Given the description of an element on the screen output the (x, y) to click on. 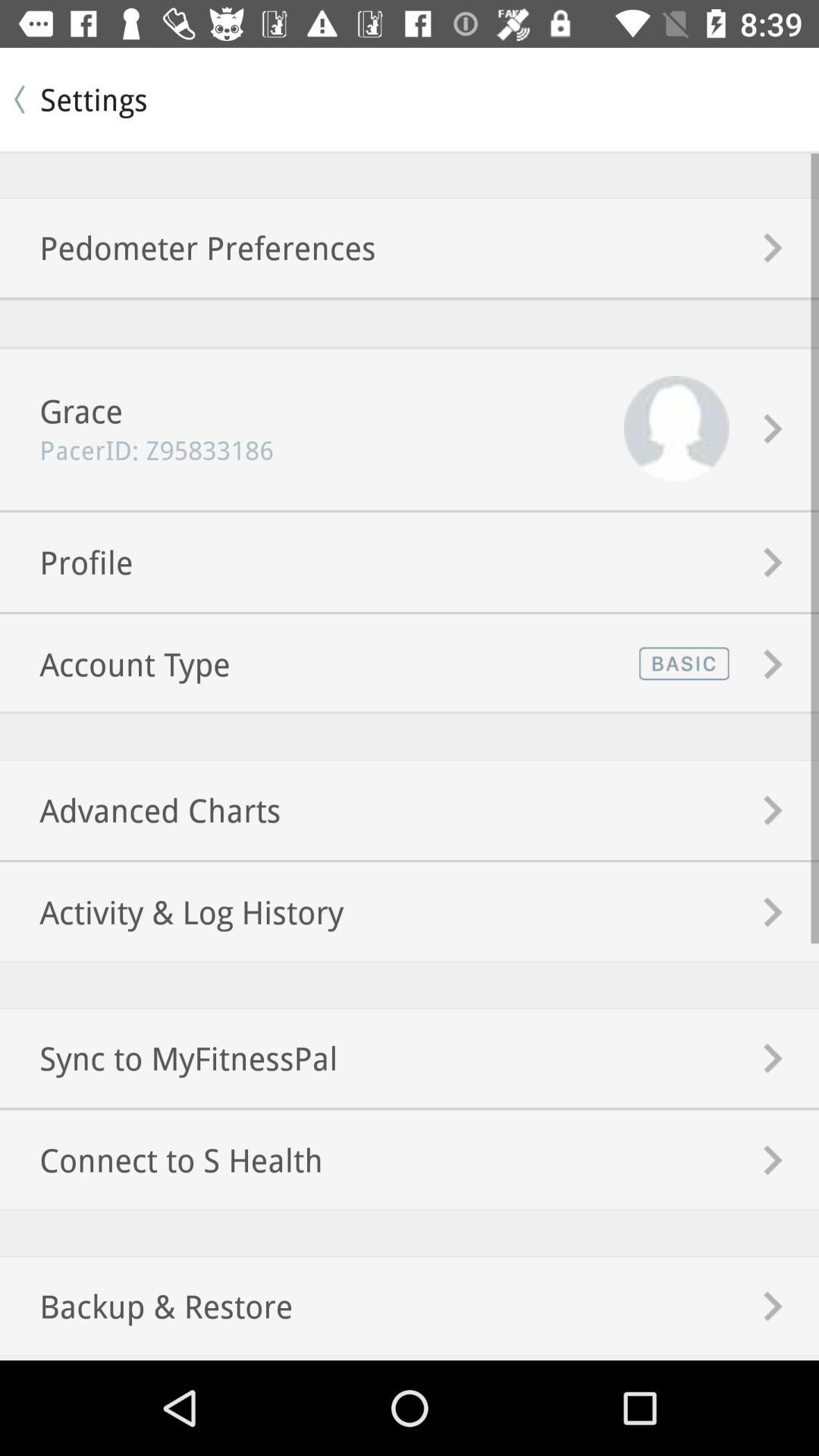
select the sync to myfitnesspal icon (168, 1057)
